Given the description of an element on the screen output the (x, y) to click on. 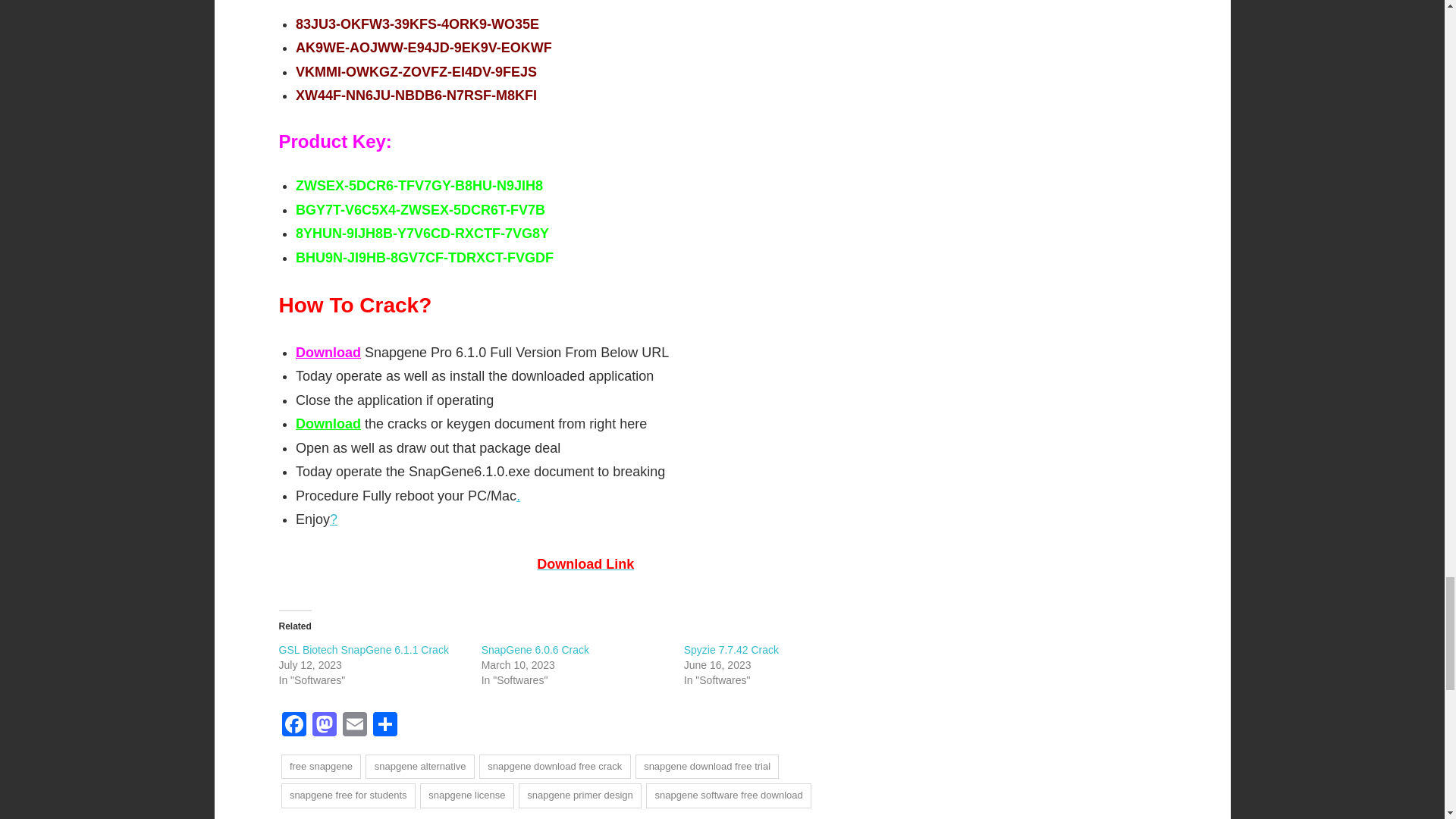
Mastodon (323, 725)
GSL Biotech SnapGene 6.1.1 Crack (363, 649)
Facebook (293, 725)
Spyzie 7.7.42 Crack (731, 649)
Email (354, 725)
SnapGene 6.0.6 Crack (535, 649)
